Given the description of an element on the screen output the (x, y) to click on. 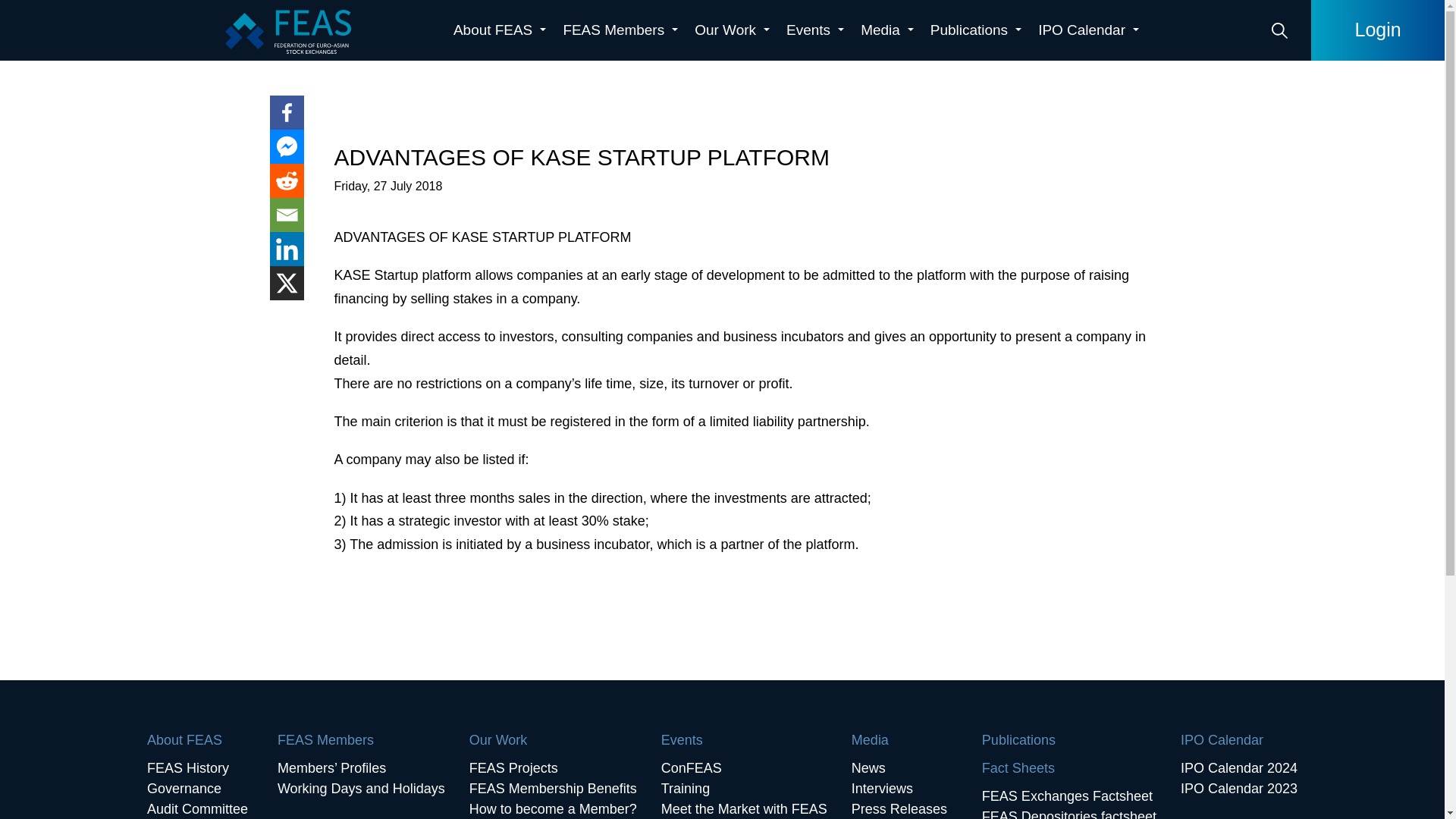
Reddit (286, 180)
IPO Calendar (1088, 29)
Events (815, 29)
Our Work (732, 29)
FEAS Members (620, 29)
Facebook (286, 112)
X (286, 283)
Media (887, 29)
Linkedin (286, 248)
About FEAS (498, 29)
